Given the description of an element on the screen output the (x, y) to click on. 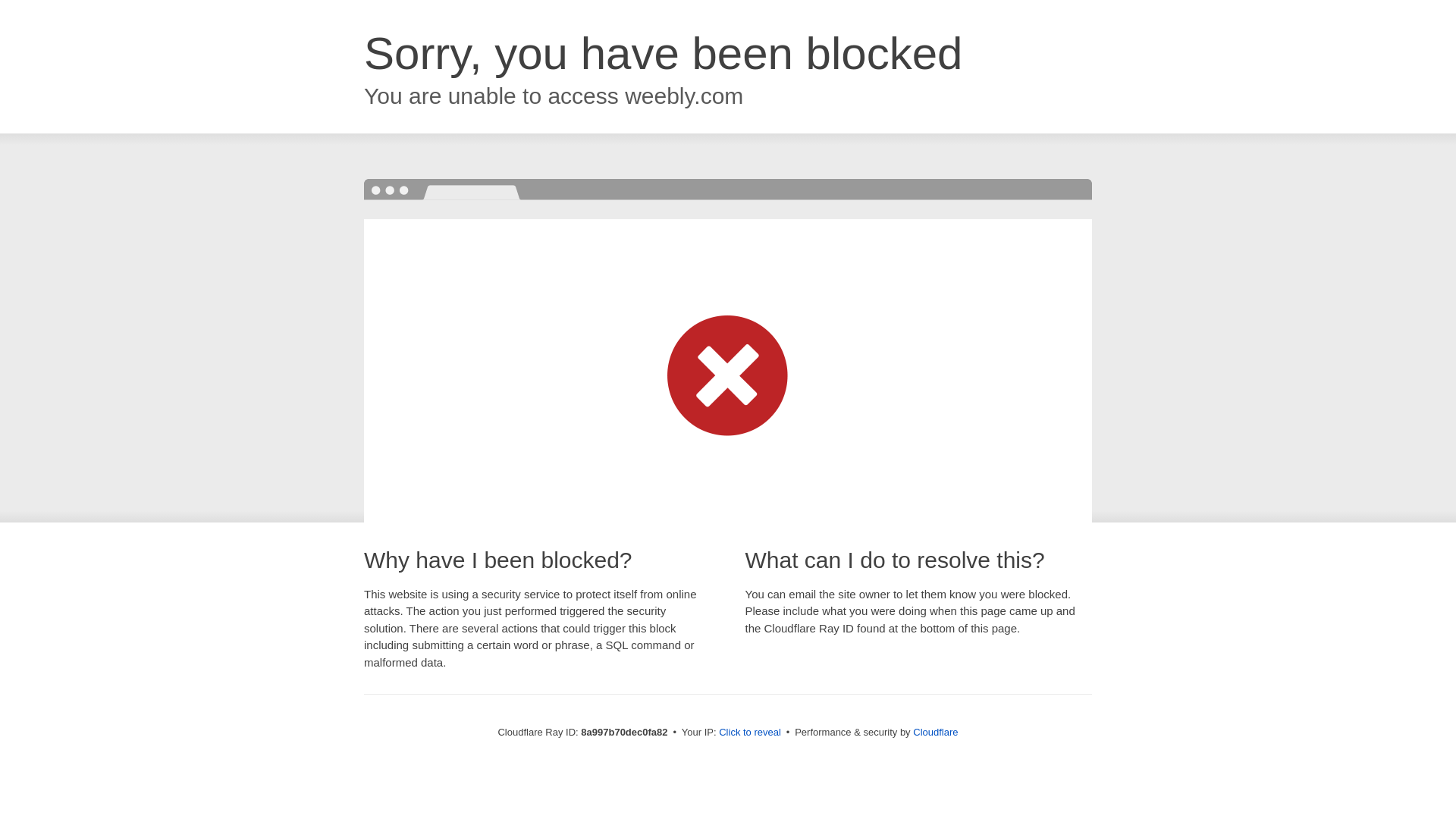
Cloudflare (935, 731)
Click to reveal (749, 732)
